Given the description of an element on the screen output the (x, y) to click on. 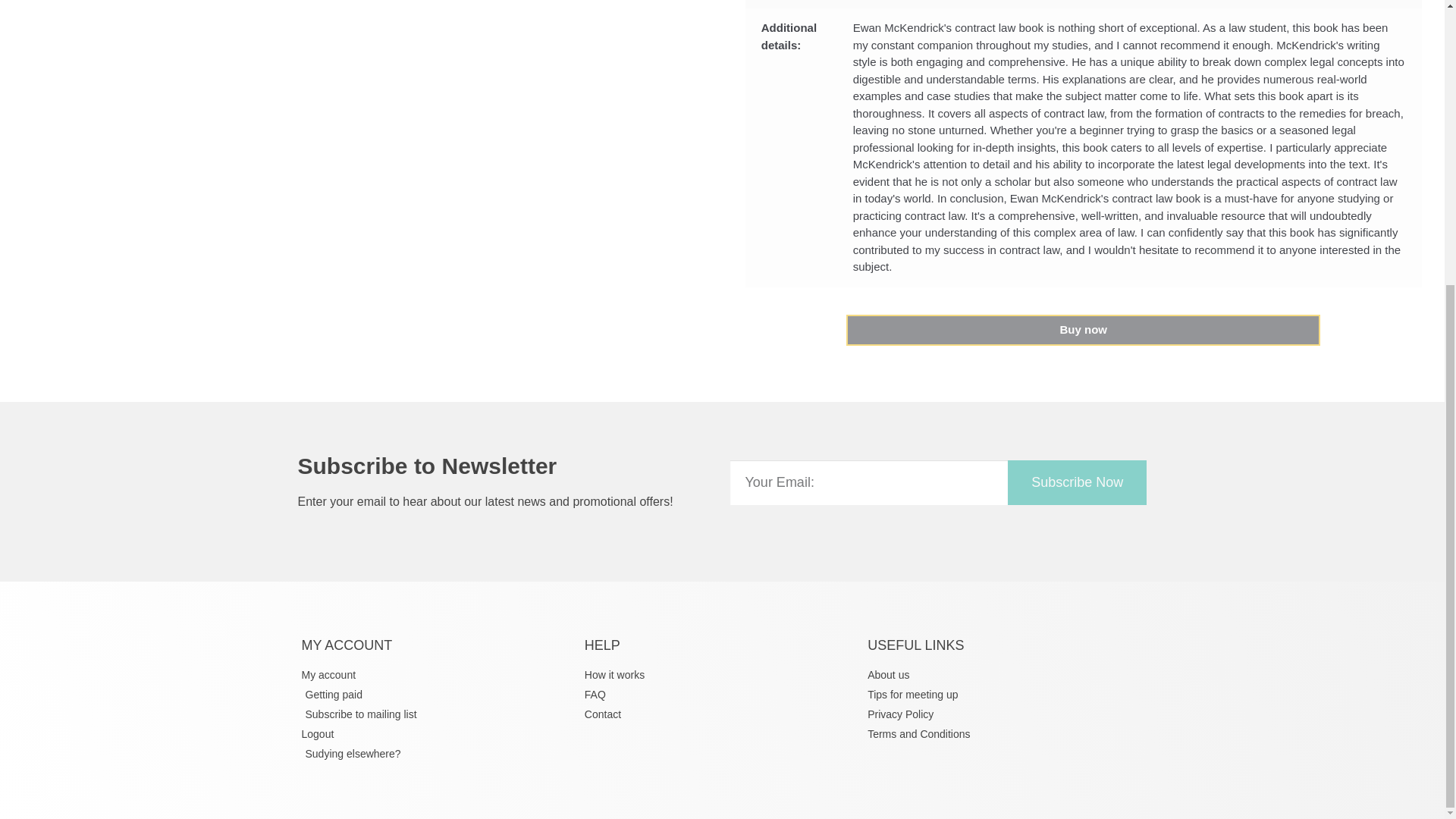
Subscribe to mailing list (438, 714)
Subscribe Now (1077, 482)
Buy now (1082, 329)
Logout (438, 734)
My account (438, 675)
Getting paid (438, 694)
